Given the description of an element on the screen output the (x, y) to click on. 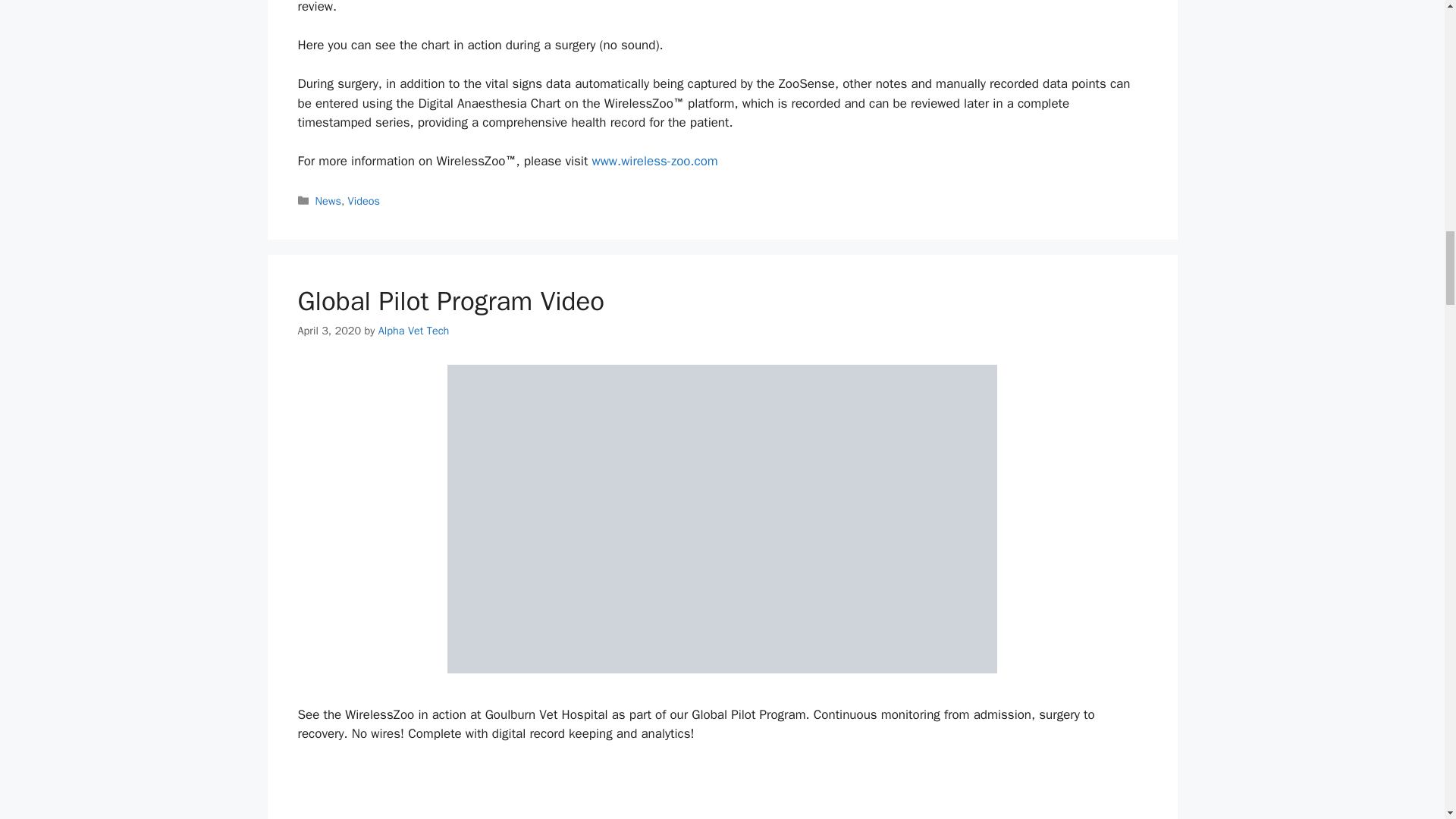
www.wireless-zoo.com (654, 160)
News (327, 201)
View all posts by Alpha Vet Tech (413, 330)
Global Pilot Program Video (450, 300)
Alpha Vet Tech (413, 330)
Videos (363, 201)
